Given the description of an element on the screen output the (x, y) to click on. 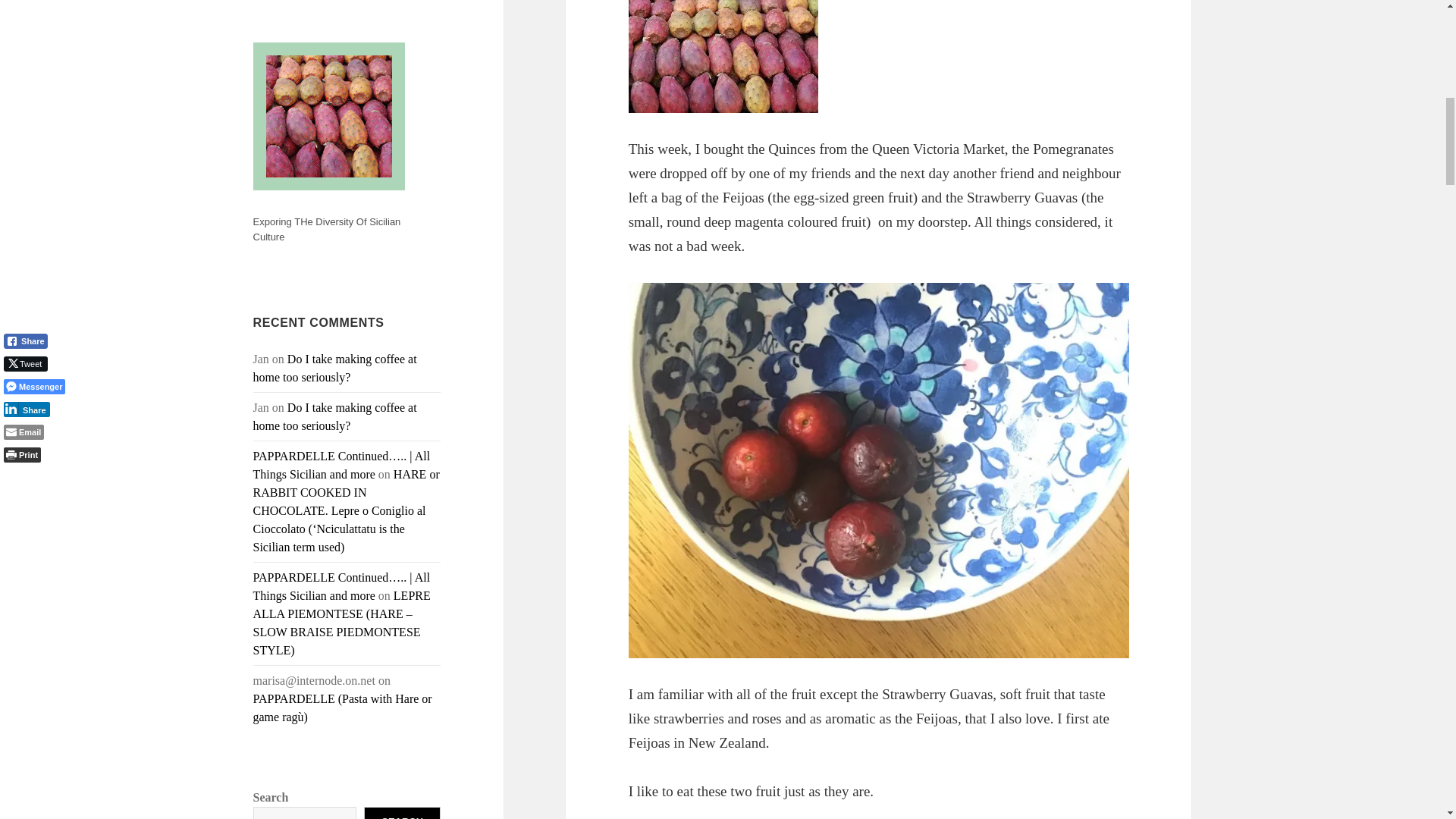
Do I take making coffee at home too seriously? (334, 416)
SEARCH (402, 812)
Do I take making coffee at home too seriously? (334, 368)
